Given the description of an element on the screen output the (x, y) to click on. 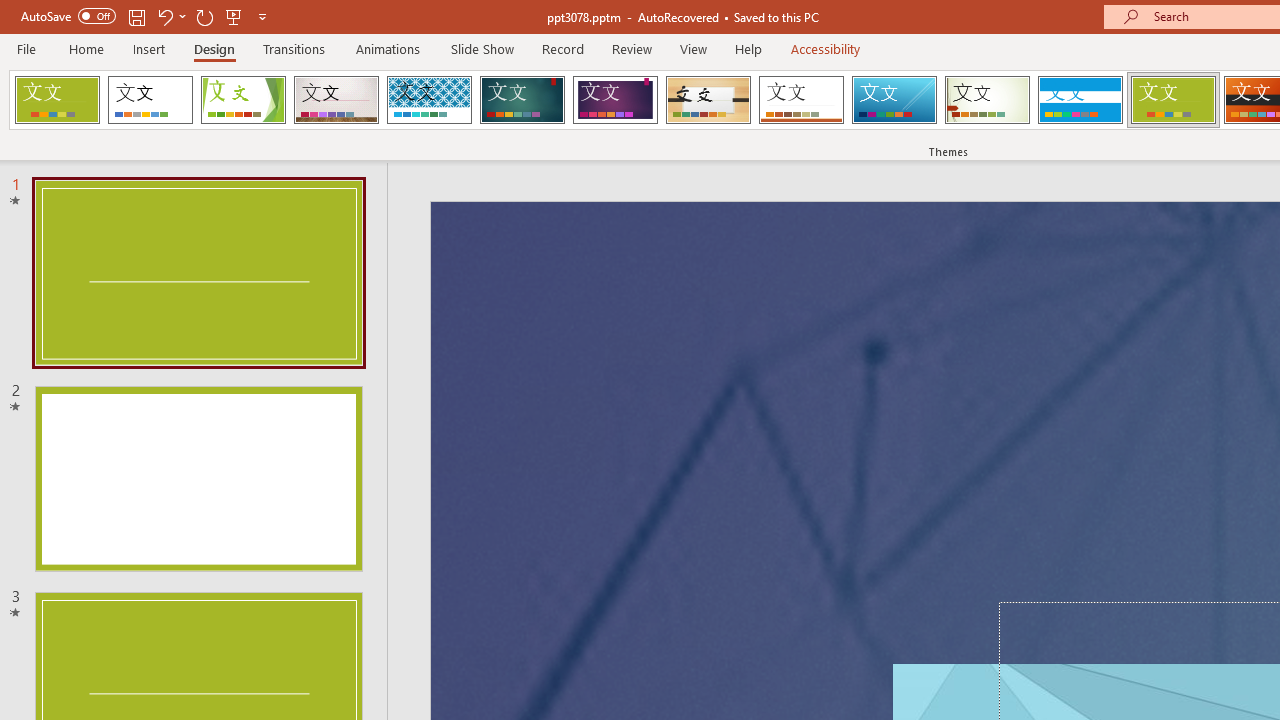
Integral (429, 100)
Slice (893, 100)
